Given the description of an element on the screen output the (x, y) to click on. 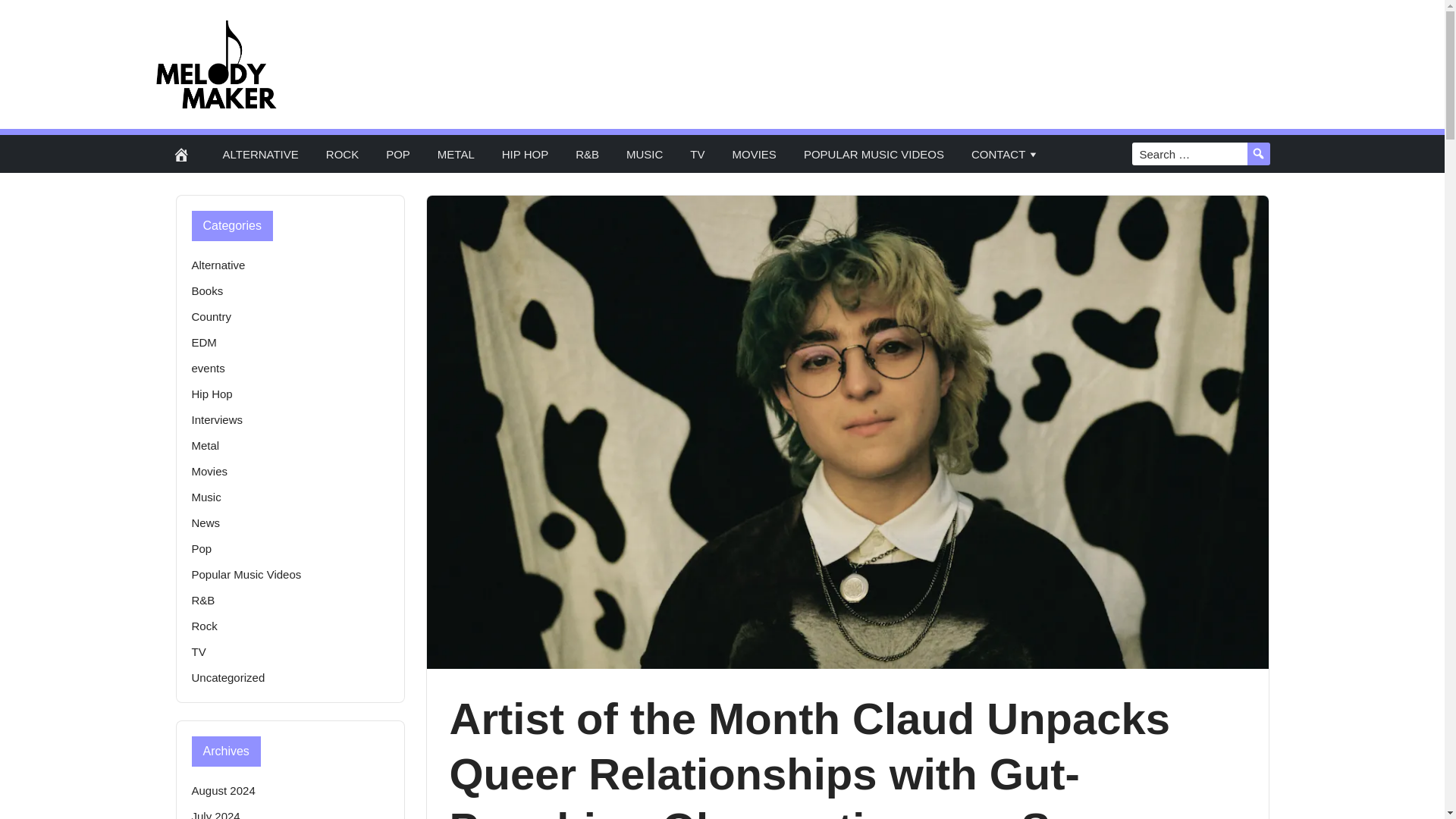
HIP HOP (524, 153)
MUSIC (644, 153)
ALTERNATIVE (261, 153)
CONTACT (1005, 153)
POP (397, 153)
MOVIES (754, 153)
POPULAR MUSIC VIDEOS (874, 153)
ROCK (342, 153)
TV (697, 153)
METAL (455, 153)
